Given the description of an element on the screen output the (x, y) to click on. 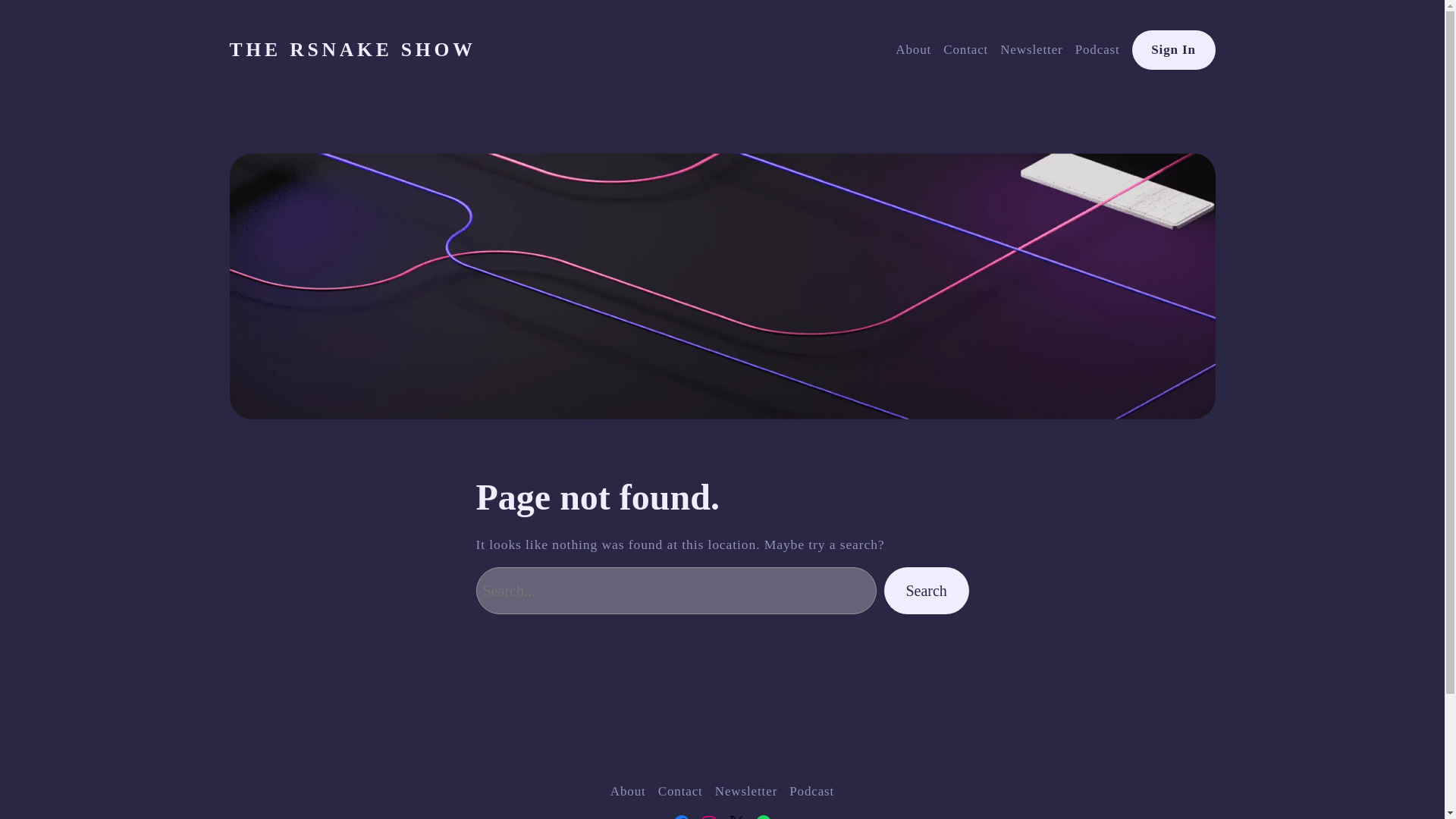
Spotify (762, 816)
Newsletter (745, 791)
Contact (965, 49)
About (913, 49)
Podcast (811, 791)
Instagram (707, 816)
Sign In (1173, 49)
Podcast (1097, 49)
Contact (680, 791)
X (735, 816)
Search (926, 591)
THE RSNAKE SHOW (352, 49)
Newsletter (1031, 49)
About (628, 791)
Facebook (680, 816)
